Given the description of an element on the screen output the (x, y) to click on. 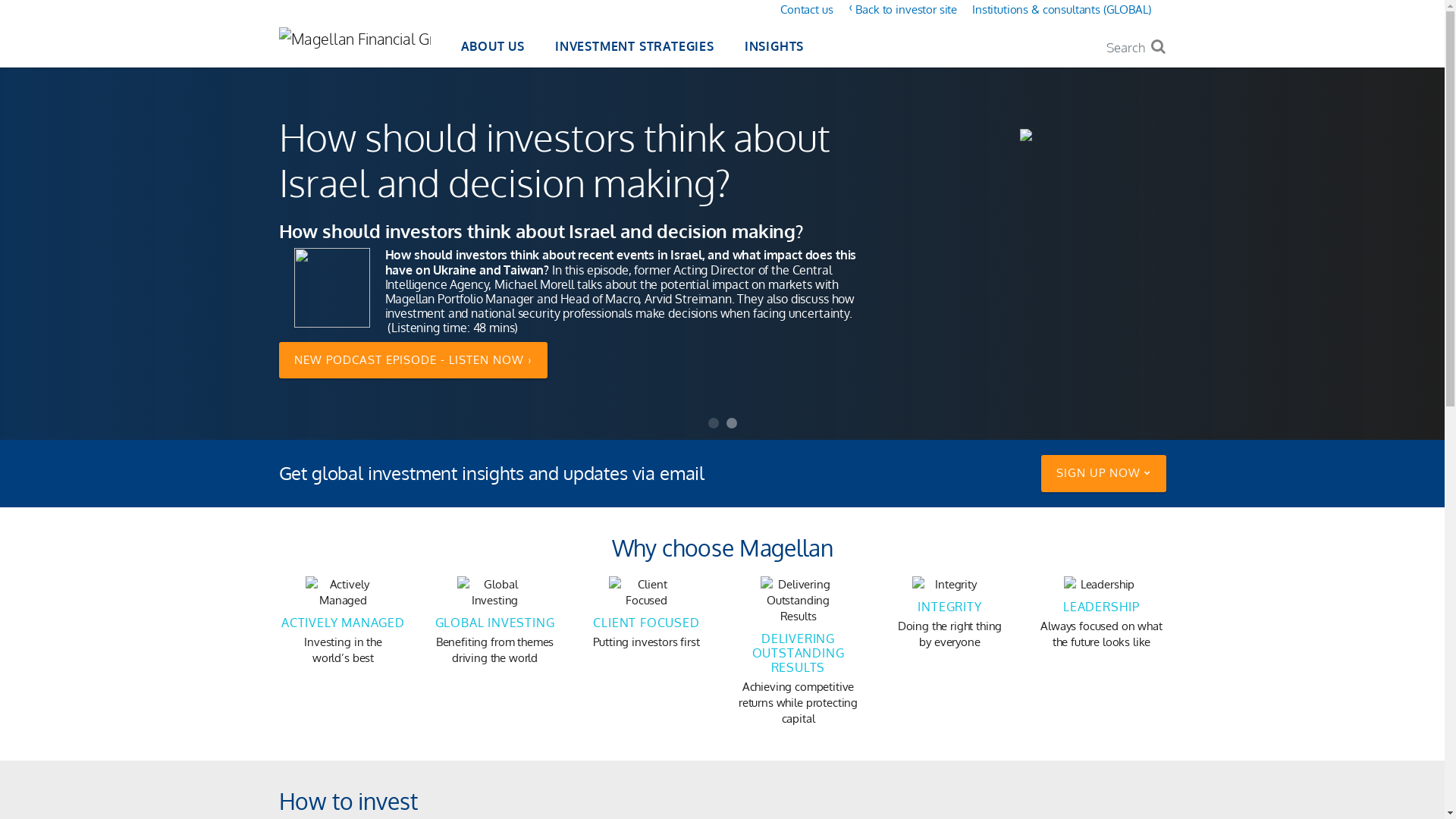
Contact us Element type: text (806, 9)
ABOUT US Element type: text (492, 47)
INSIGHTS Element type: text (773, 47)
SIGN UP NOW Element type: text (1102, 473)
Institutions & consultants (GLOBAL) Element type: text (1061, 9)
NEW PODCAST EPISODE - LISTEN NOW Element type: text (413, 360)
Back to investor site Element type: text (906, 9)
INVESTMENT STRATEGIES Element type: text (634, 47)
